Given the description of an element on the screen output the (x, y) to click on. 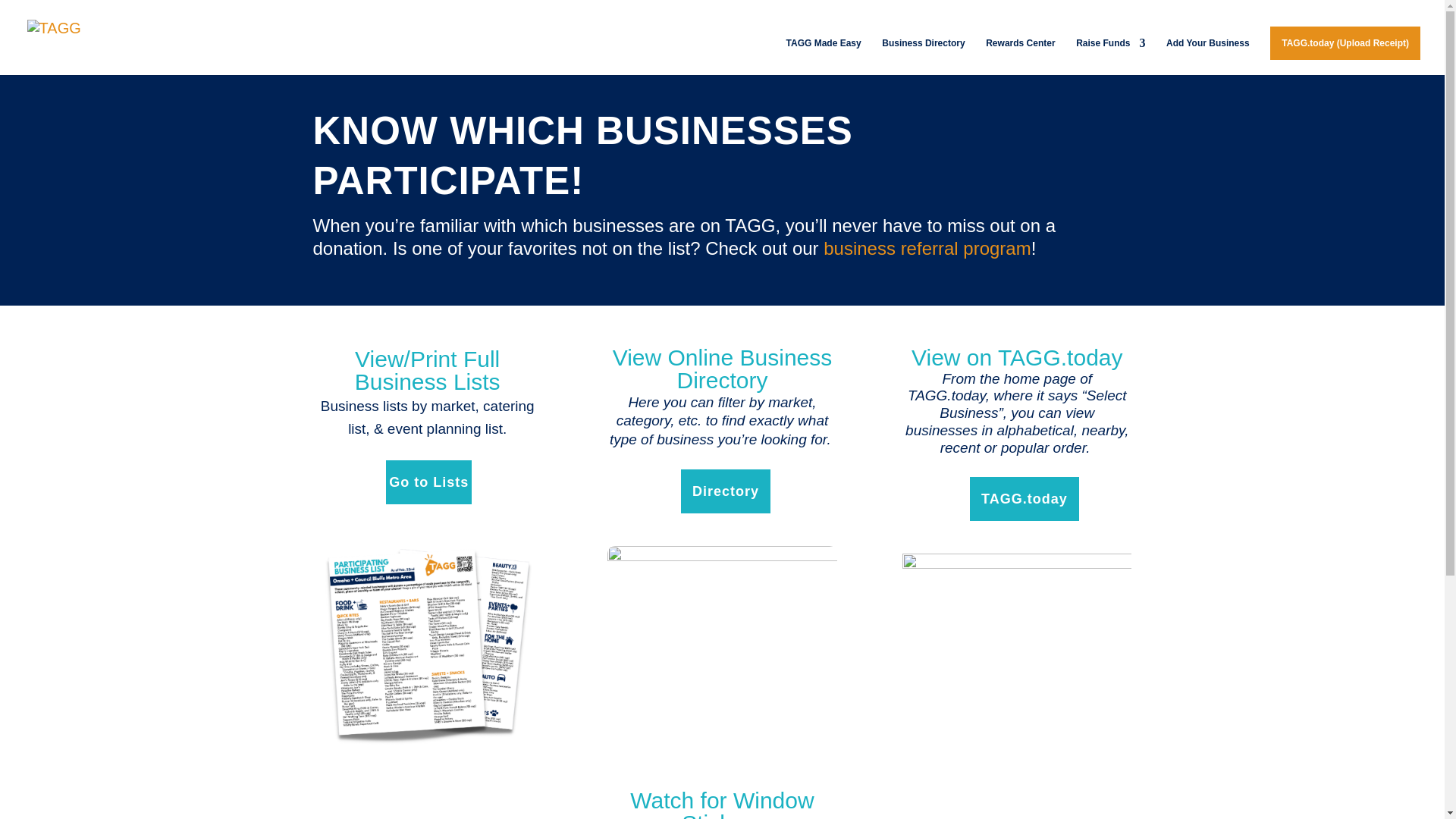
Raise Funds (1109, 56)
Screenshot 2023-07-25 at 9.43.56 PM (427, 642)
Directory (725, 491)
Business Directory (922, 56)
Go to Lists (428, 482)
Screenshot 2023-07-25 at 9.47.33 PM (721, 605)
Screenshot 2023-07-25 at 9.53.20 PM (1016, 660)
Add Your Business (1207, 56)
business referral program (927, 248)
TAGG.today (1023, 498)
